Given the description of an element on the screen output the (x, y) to click on. 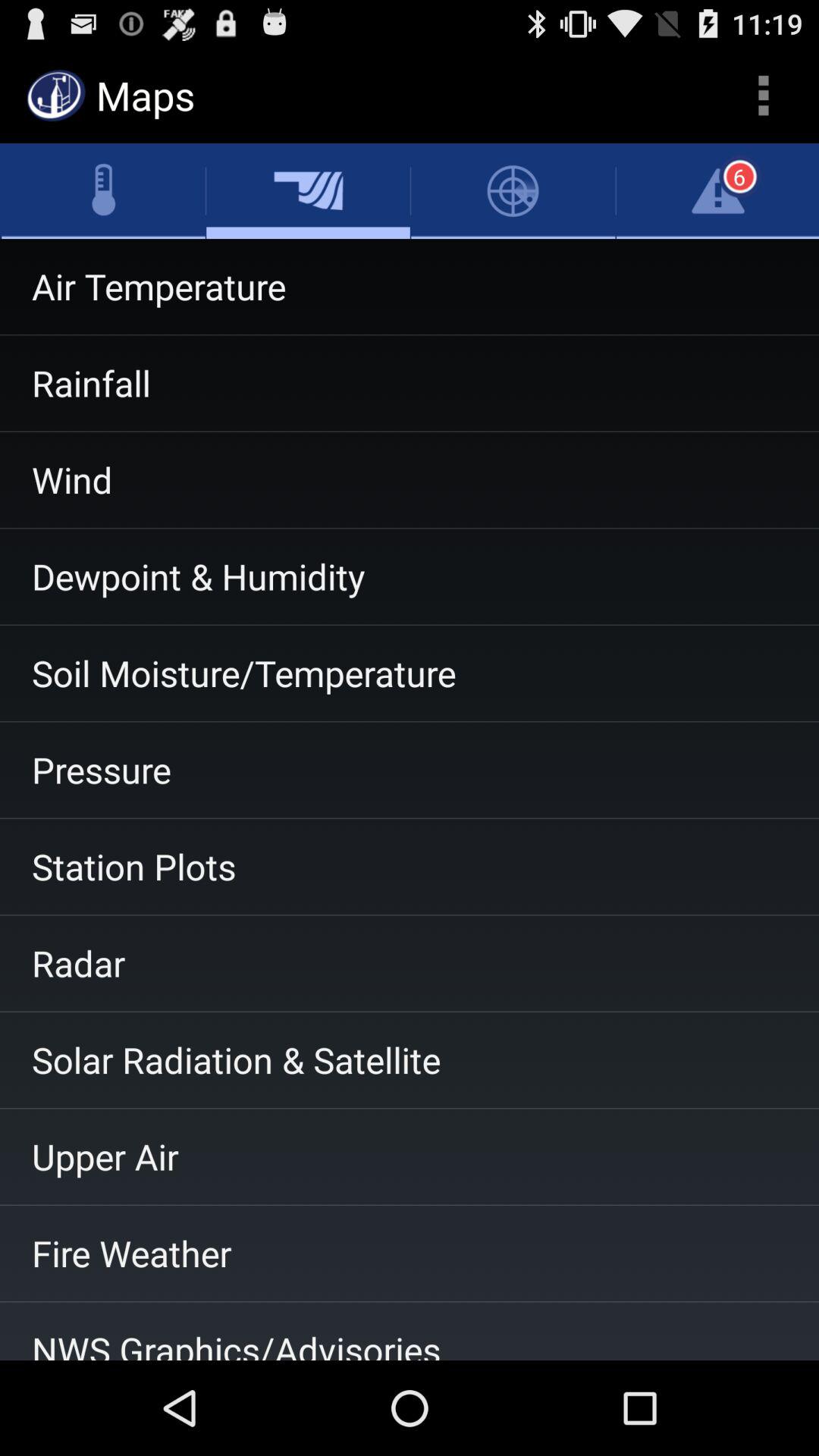
launch app above pressure app (409, 673)
